Given the description of an element on the screen output the (x, y) to click on. 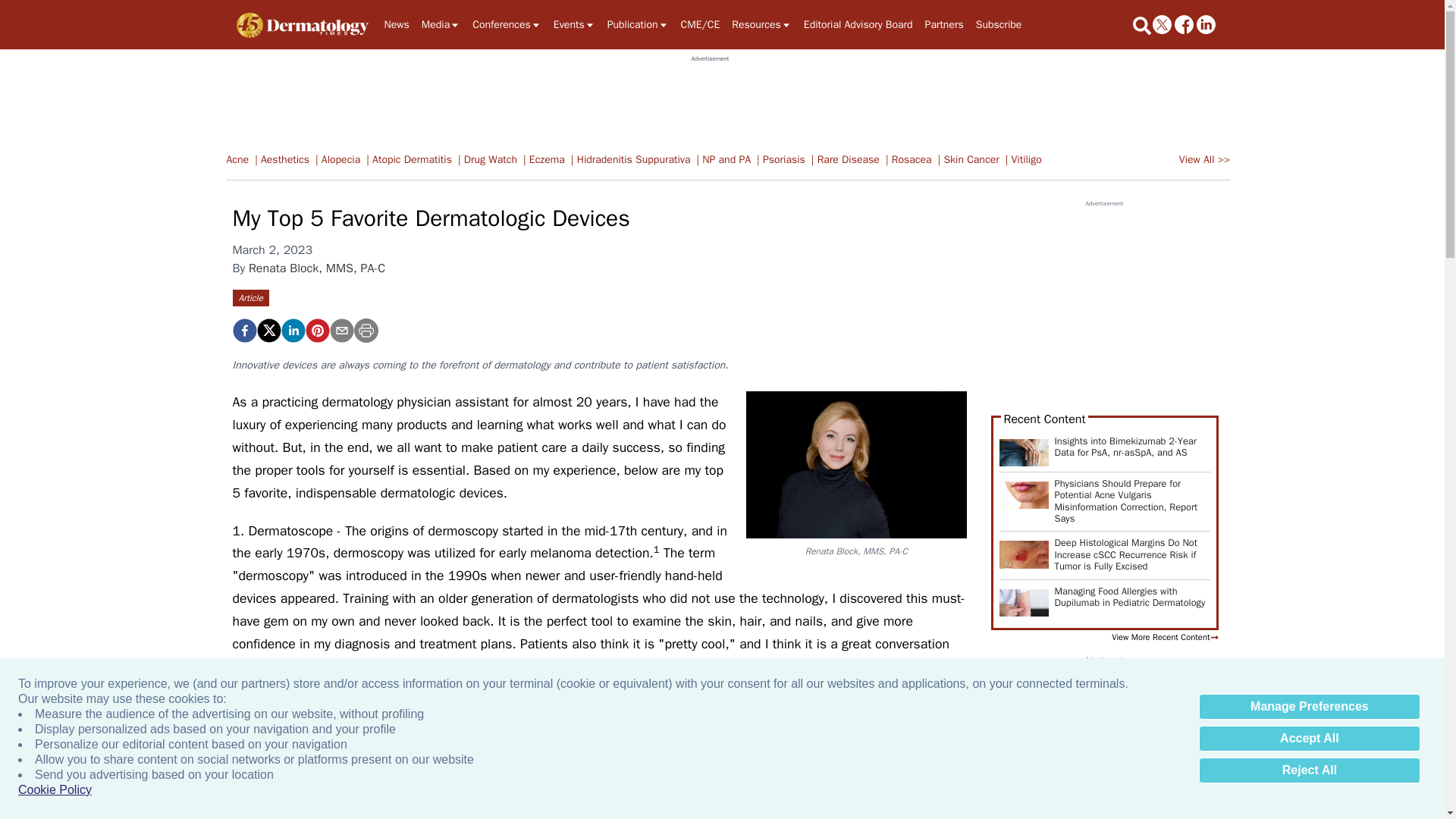
Renata Block, MMS, PA-C (855, 464)
Editorial Advisory Board (857, 23)
My Top 5 Favorite Dermatologic Devices   (243, 330)
My Top 5 Favorite Dermatologic Devices   (316, 330)
Manage Preferences (1309, 706)
3rd party ad content (709, 97)
Cookie Policy (54, 789)
Accept All (1309, 738)
Reject All (1309, 769)
News (396, 23)
